Given the description of an element on the screen output the (x, y) to click on. 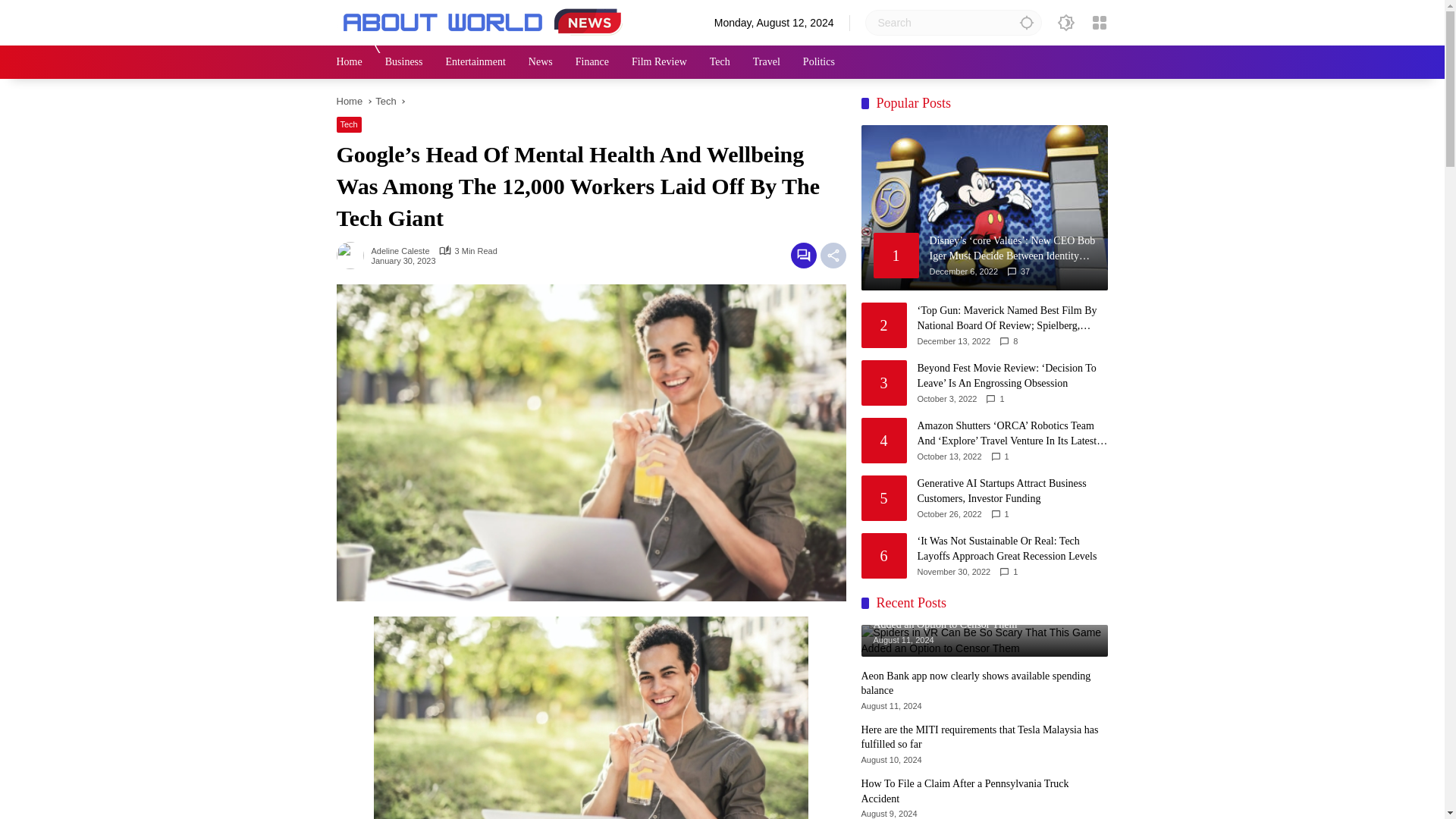
Home (349, 101)
Permalink to: Adeline Caleste (353, 254)
Film Review (659, 61)
Finance (591, 61)
Adeline Caleste (400, 251)
Adeline Caleste (400, 251)
Business (404, 61)
About World News (485, 21)
View all posts in Tech (348, 124)
